Given the description of an element on the screen output the (x, y) to click on. 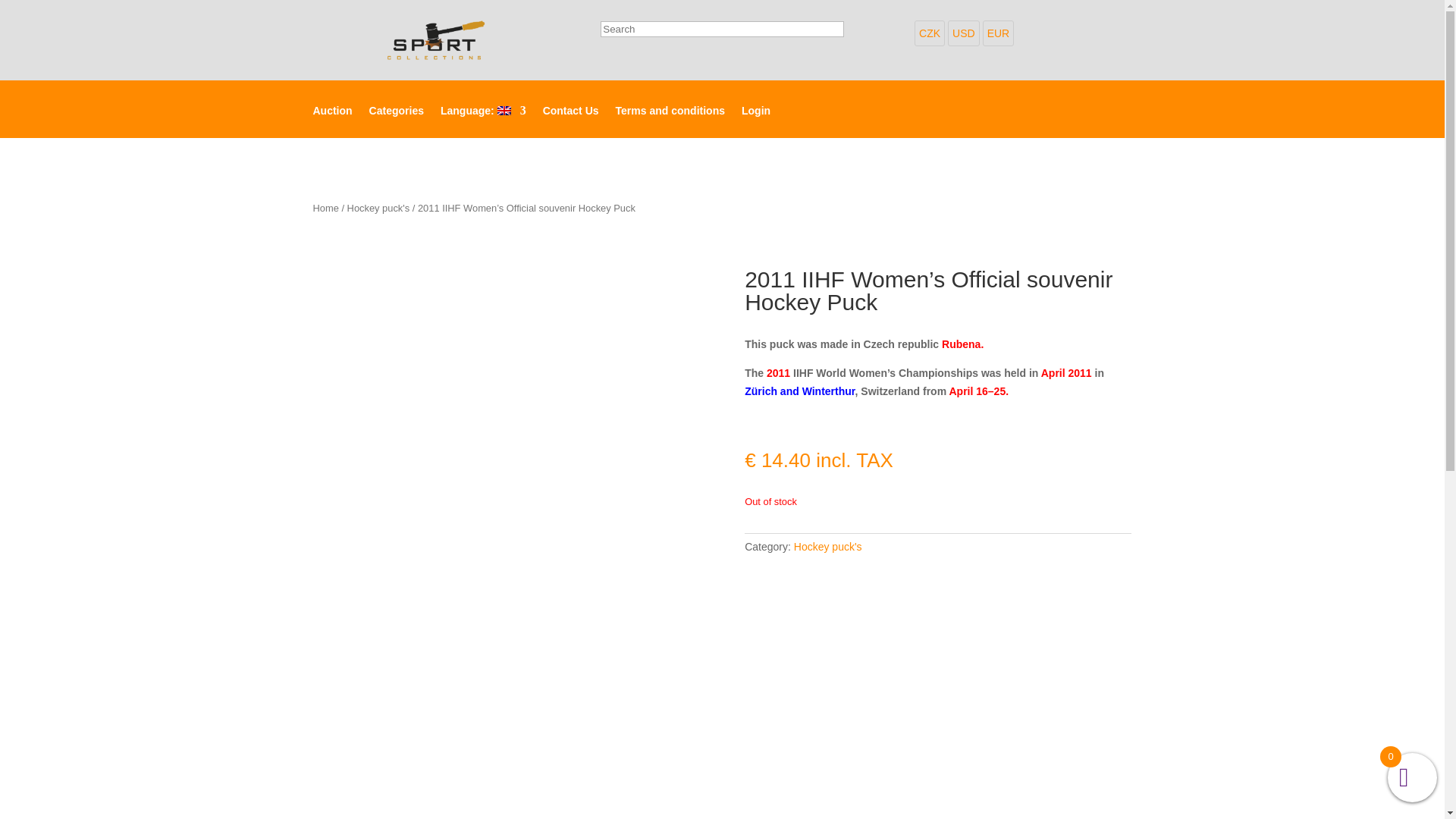
Home (325, 207)
EUR (998, 32)
CZK (929, 32)
Hockey puck's (827, 546)
Contact Us (570, 121)
Terms and conditions (670, 121)
Language:  (483, 121)
English (483, 121)
logosportcolbezkonc (434, 39)
USD (963, 32)
